Given the description of an element on the screen output the (x, y) to click on. 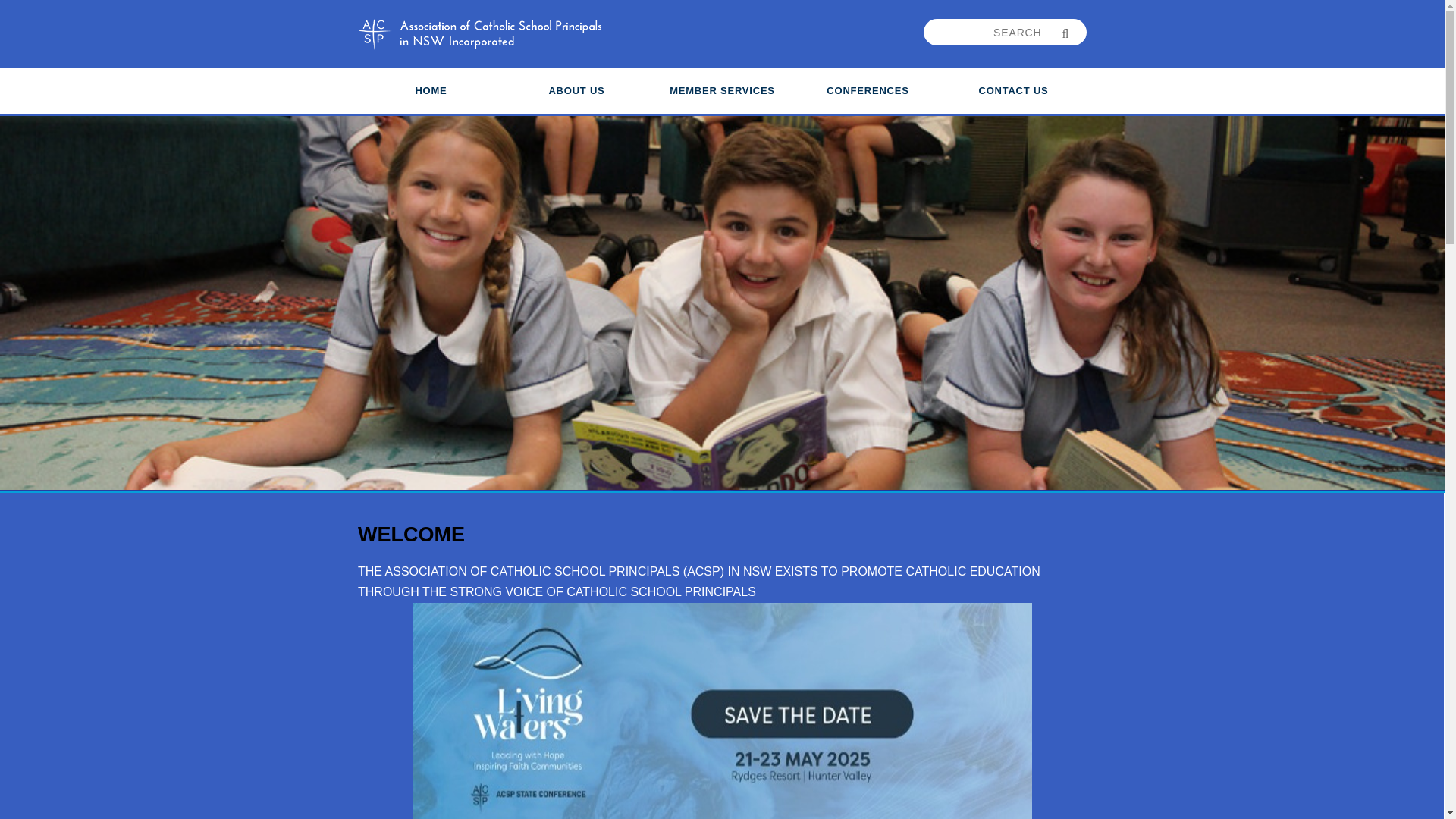
ABOUT US (576, 90)
Conferences (867, 90)
About Us (576, 90)
Member Services (721, 90)
MEMBER SERVICES (721, 90)
Home (430, 90)
CONFERENCES (867, 90)
CONTACT US (1013, 90)
HOME (430, 90)
Search (1065, 33)
Search (991, 31)
